Given the description of an element on the screen output the (x, y) to click on. 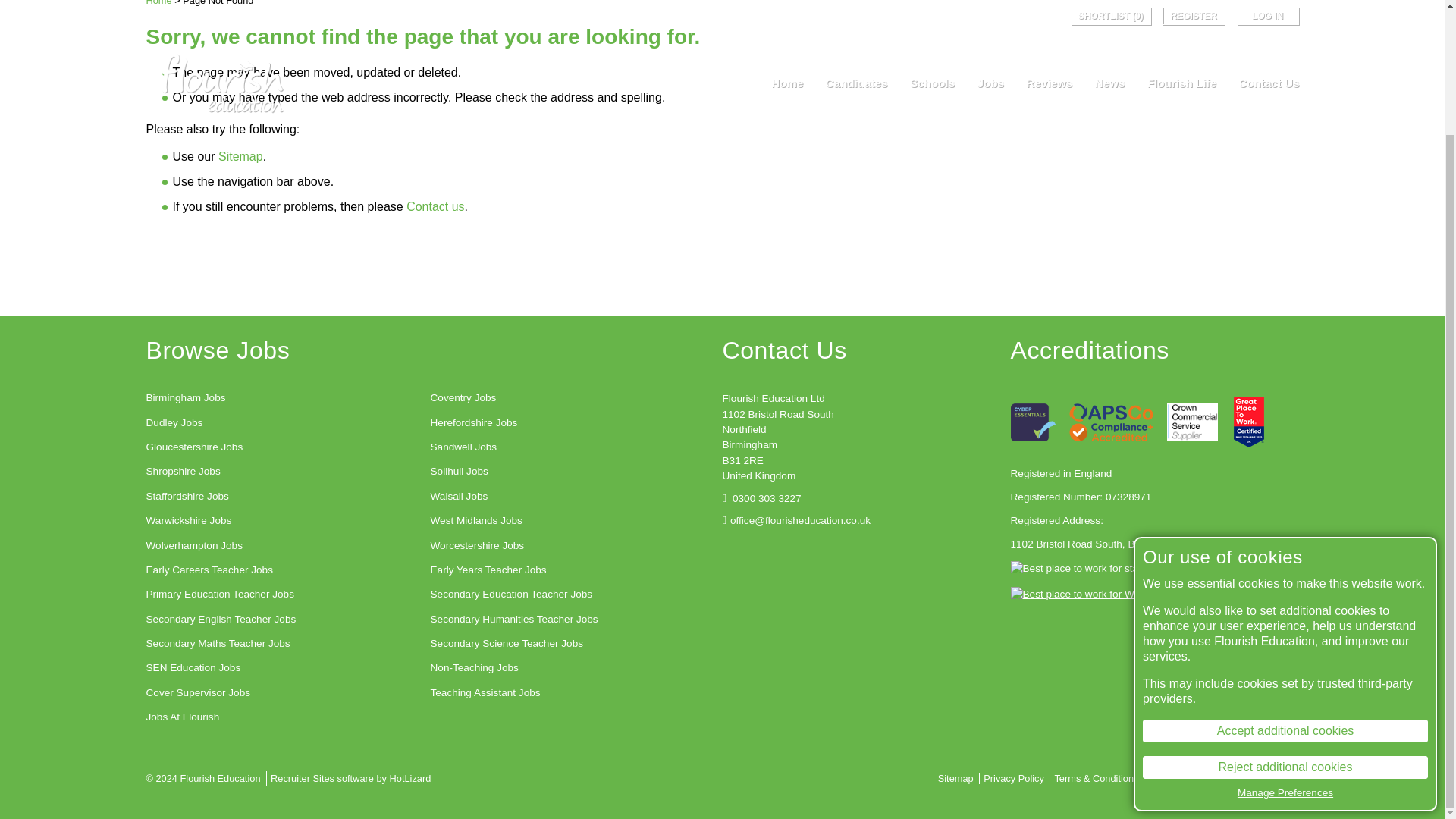
Walsall Jobs (458, 496)
Shropshire Jobs (182, 471)
Reject additional cookies (1285, 617)
Sandwell Jobs (463, 446)
Staffordshire Jobs (186, 496)
West Midlands Jobs (476, 520)
Dudley Jobs (173, 423)
Dudley Jobs (173, 423)
Gloucestershire Jobs (194, 446)
Birmingham Jobs (185, 397)
Birmingham Jobs (185, 397)
Staffordshire Jobs (186, 496)
Sitemap (240, 155)
Coventry Jobs (463, 397)
Herefordshire Jobs (474, 423)
